Given the description of an element on the screen output the (x, y) to click on. 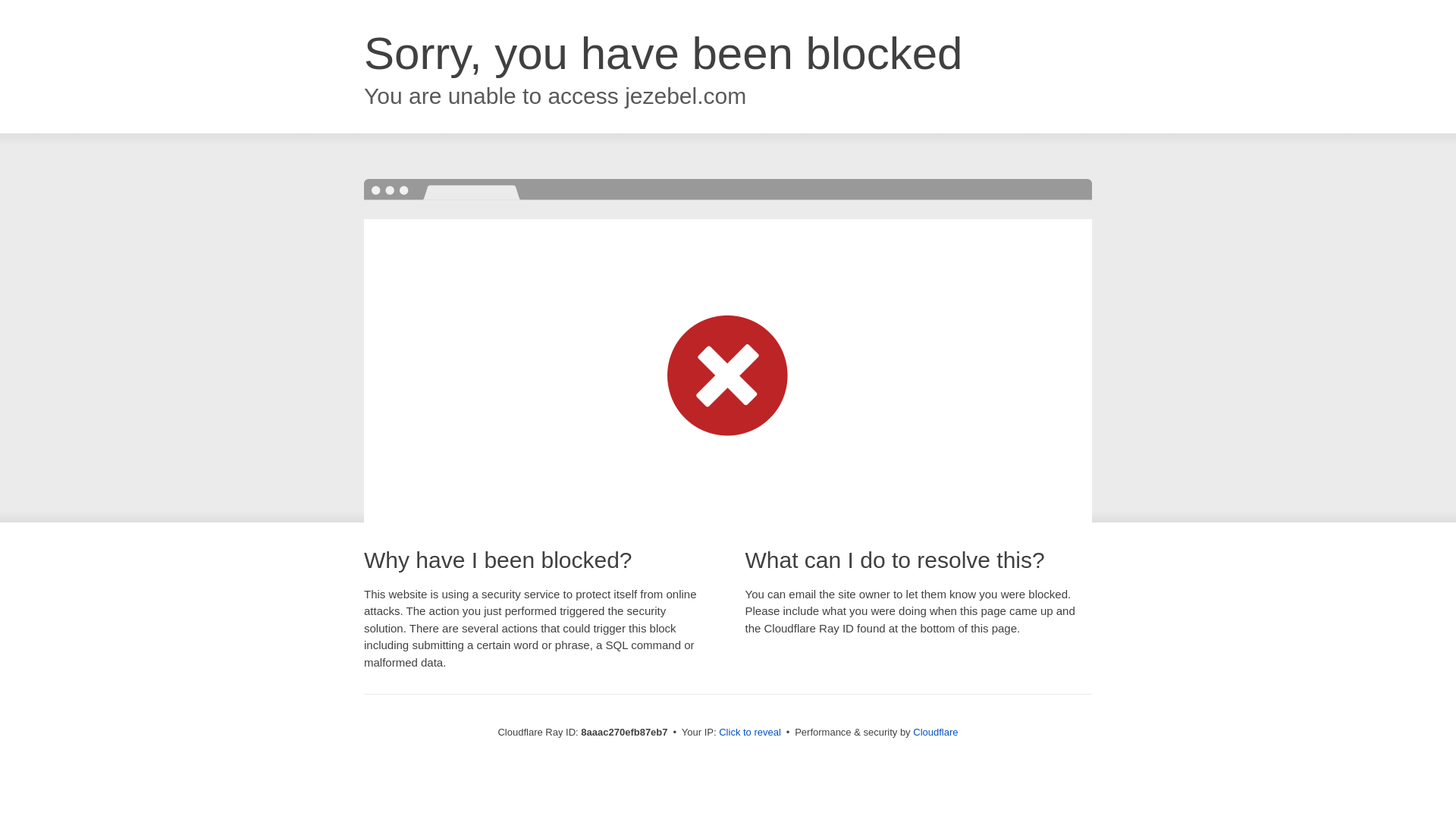
Cloudflare (935, 731)
Click to reveal (749, 732)
